Given the description of an element on the screen output the (x, y) to click on. 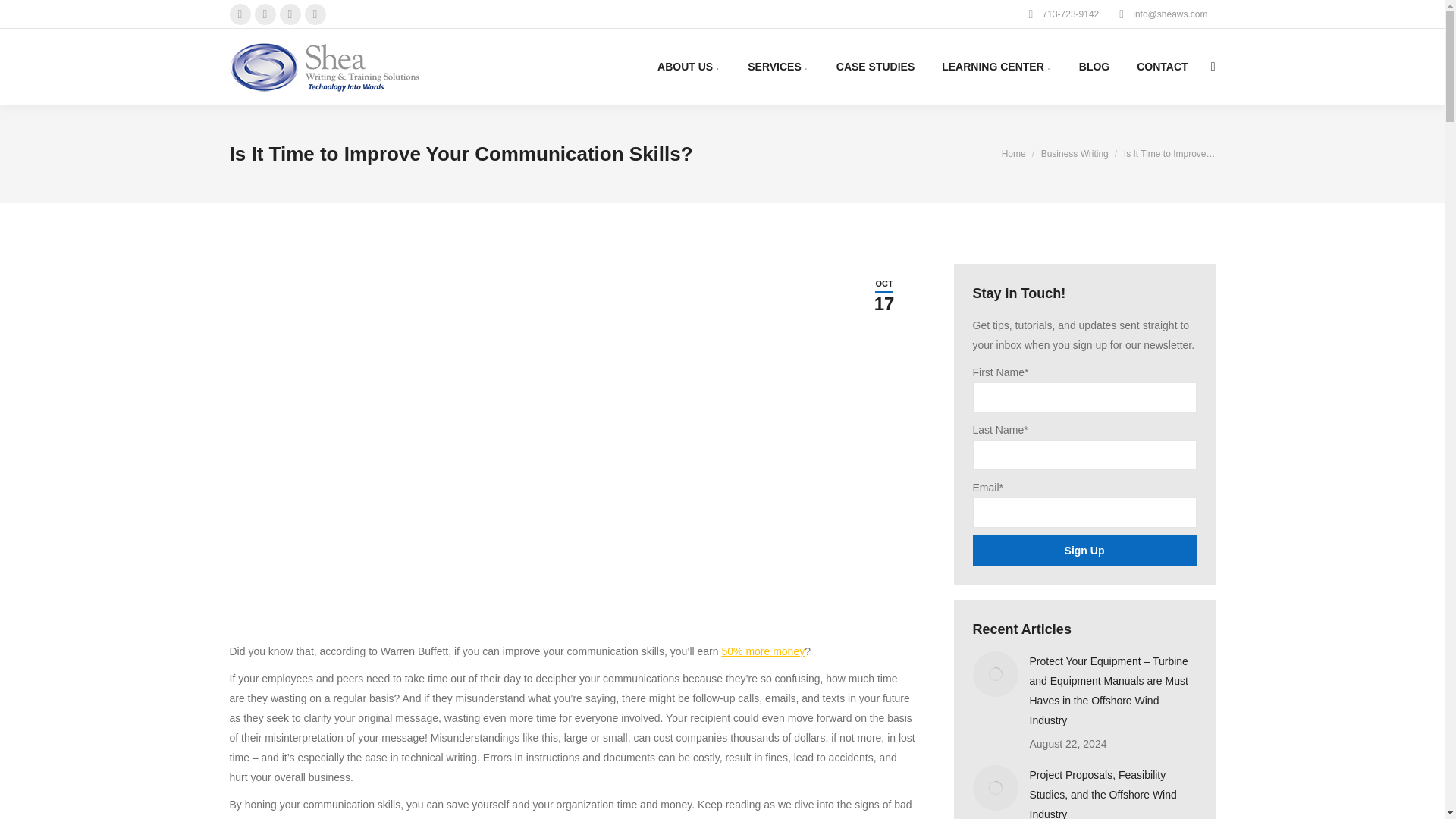
Facebook page opens in new window (239, 14)
LEARNING CENTER (996, 66)
Twitter page opens in new window (265, 14)
Sign Up (1083, 550)
Twitter page opens in new window (265, 14)
custom  ink (689, 66)
Linkedin page opens in new window (289, 14)
ABOUT US (689, 66)
8:07 am (883, 295)
YouTube page opens in new window (315, 14)
